Given the description of an element on the screen output the (x, y) to click on. 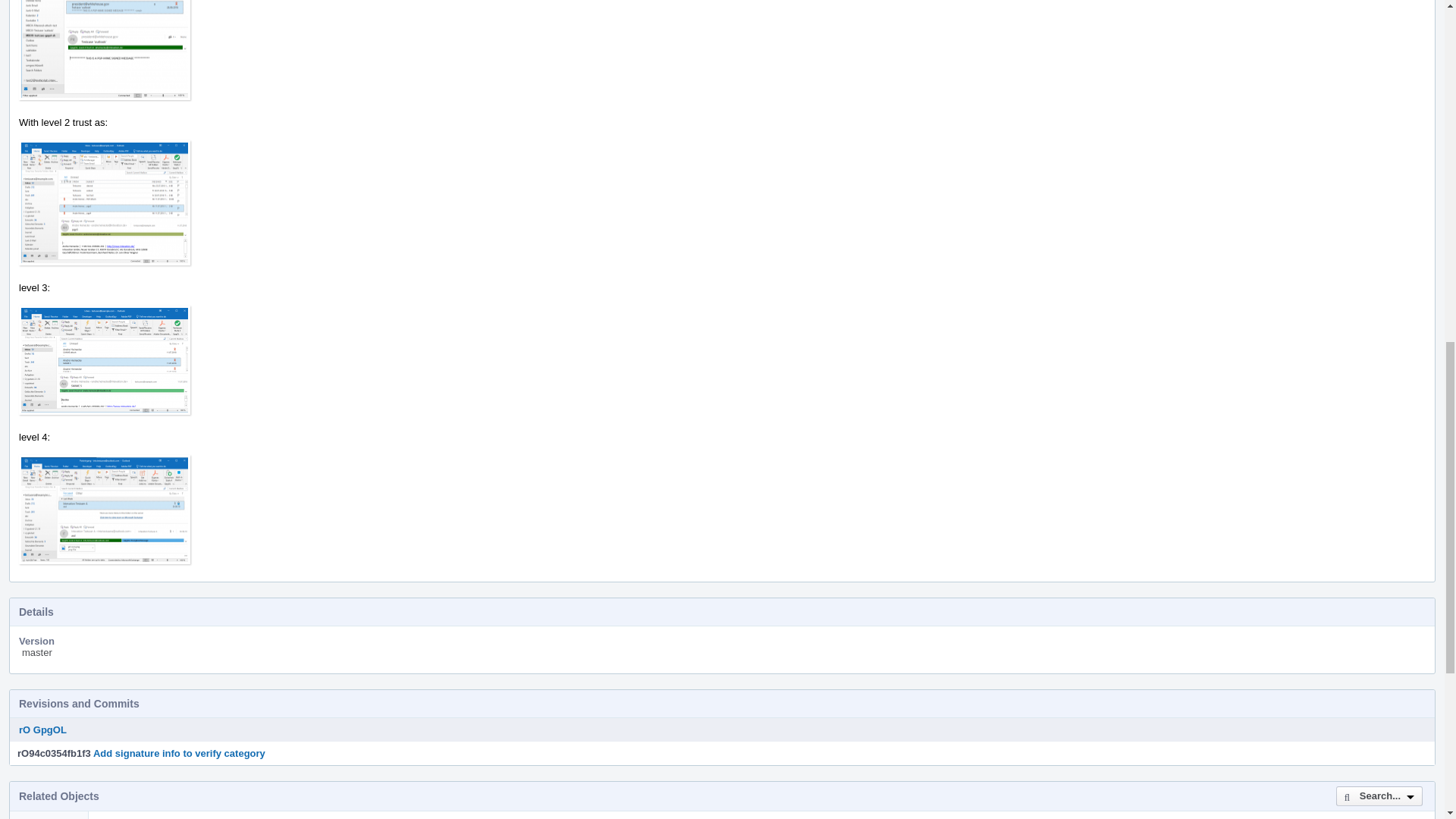
Add signature info to verify category (178, 753)
Search... (1379, 795)
rO GpgOL (42, 729)
